Given the description of an element on the screen output the (x, y) to click on. 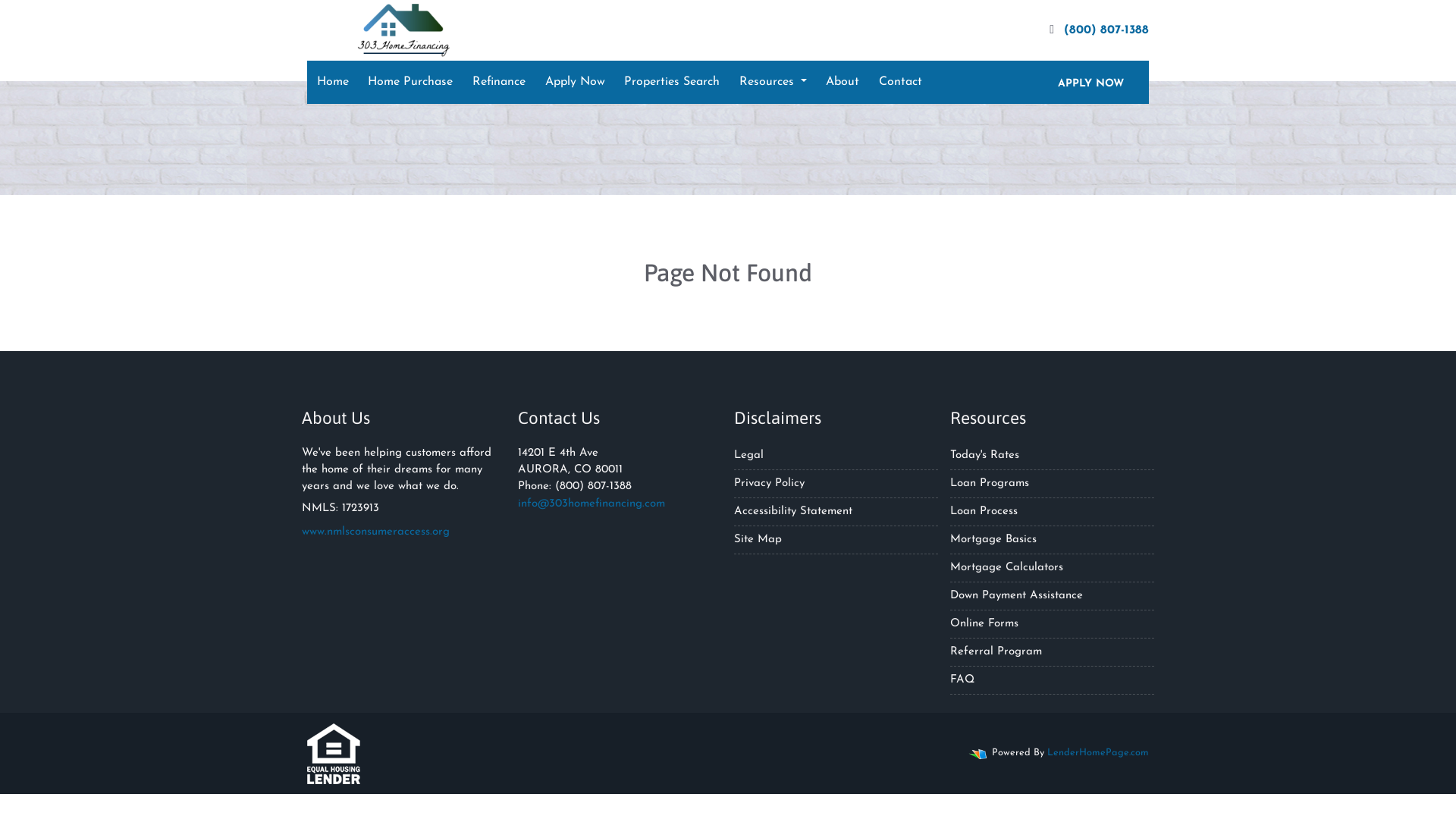
www.nmlsconsumeraccess.org Element type: text (375, 531)
APPLY NOW Element type: text (1090, 81)
Home Purchase Element type: text (409, 81)
Accessibility Statement Element type: text (793, 511)
Privacy Policy Element type: text (769, 483)
Loan Process Element type: text (983, 511)
FAQ Element type: text (962, 679)
Online Forms Element type: text (984, 623)
Loan Programs Element type: text (989, 483)
Resources Element type: text (772, 81)
(800) 807-1388 Element type: text (1093, 30)
Contact Element type: text (900, 81)
Apply Now Element type: text (575, 81)
Legal Element type: text (748, 455)
Site Map Element type: text (757, 539)
Refinance Element type: text (498, 81)
Properties Search Element type: text (671, 81)
Today's Rates Element type: text (984, 455)
info@303homefinancing.com Element type: text (591, 503)
Home Element type: text (332, 81)
Down Payment Assistance Element type: text (1016, 595)
LenderHomePage.com Element type: text (1097, 752)
Referral Program Element type: text (995, 651)
About Element type: text (842, 81)
Mortgage Basics Element type: text (993, 539)
Mortgage Calculators Element type: text (1006, 567)
